Given the description of an element on the screen output the (x, y) to click on. 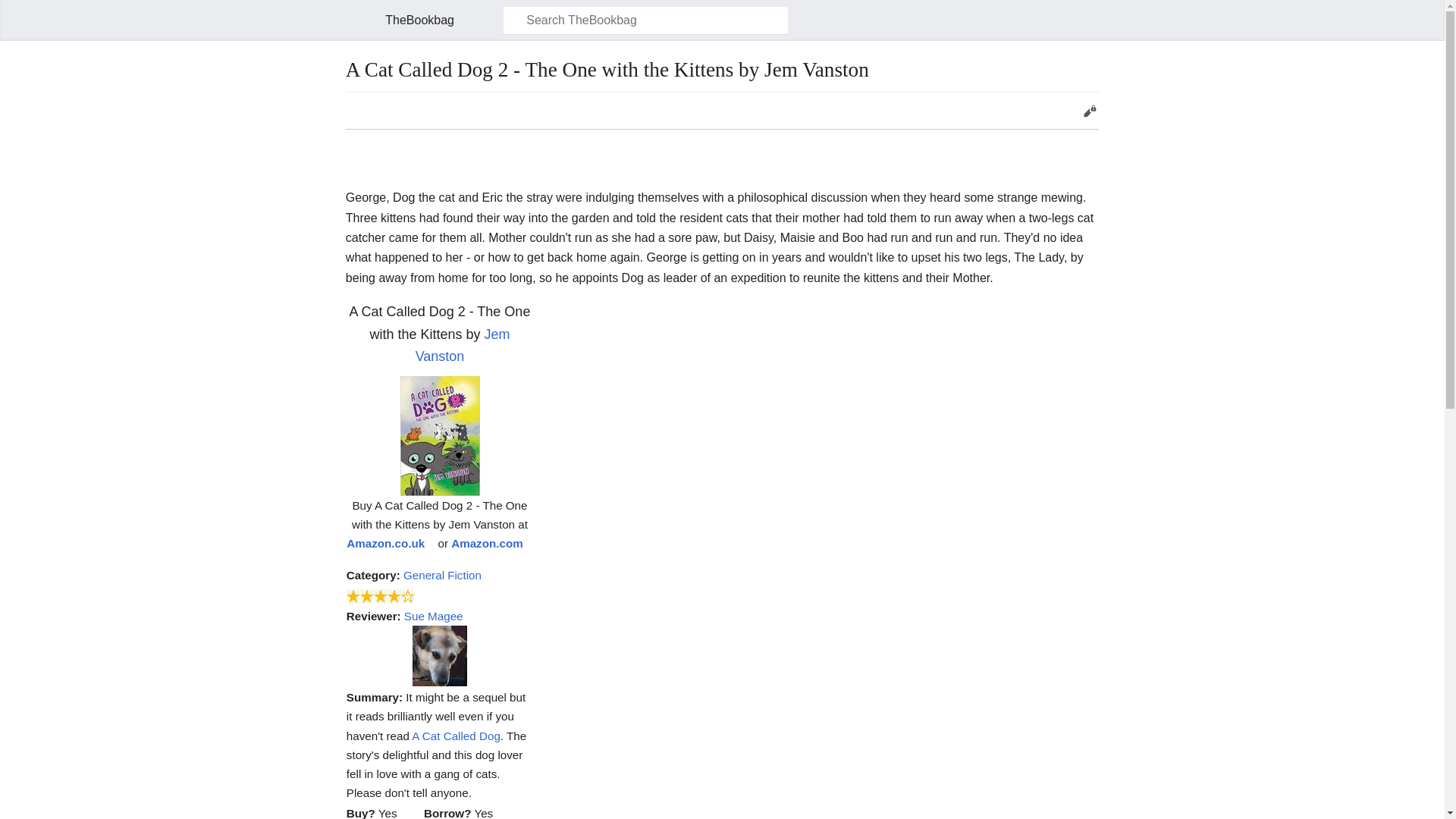
Read in another language (354, 110)
A Cat Called Dog by Jem Vanston (456, 735)
General Fiction (442, 574)
Edit (1089, 110)
Amazon.com (491, 543)
Jem Vanston (462, 345)
Watch this page (1041, 110)
A Cat Called Dog (456, 735)
Amazon.co.uk (389, 543)
Read in another language (354, 110)
Watch this page (1041, 110)
Edit the lead section of this page (1089, 110)
Open main menu (352, 20)
Category:General Fiction (442, 574)
Category:Reviewed by Sue Magee (433, 615)
